Given the description of an element on the screen output the (x, y) to click on. 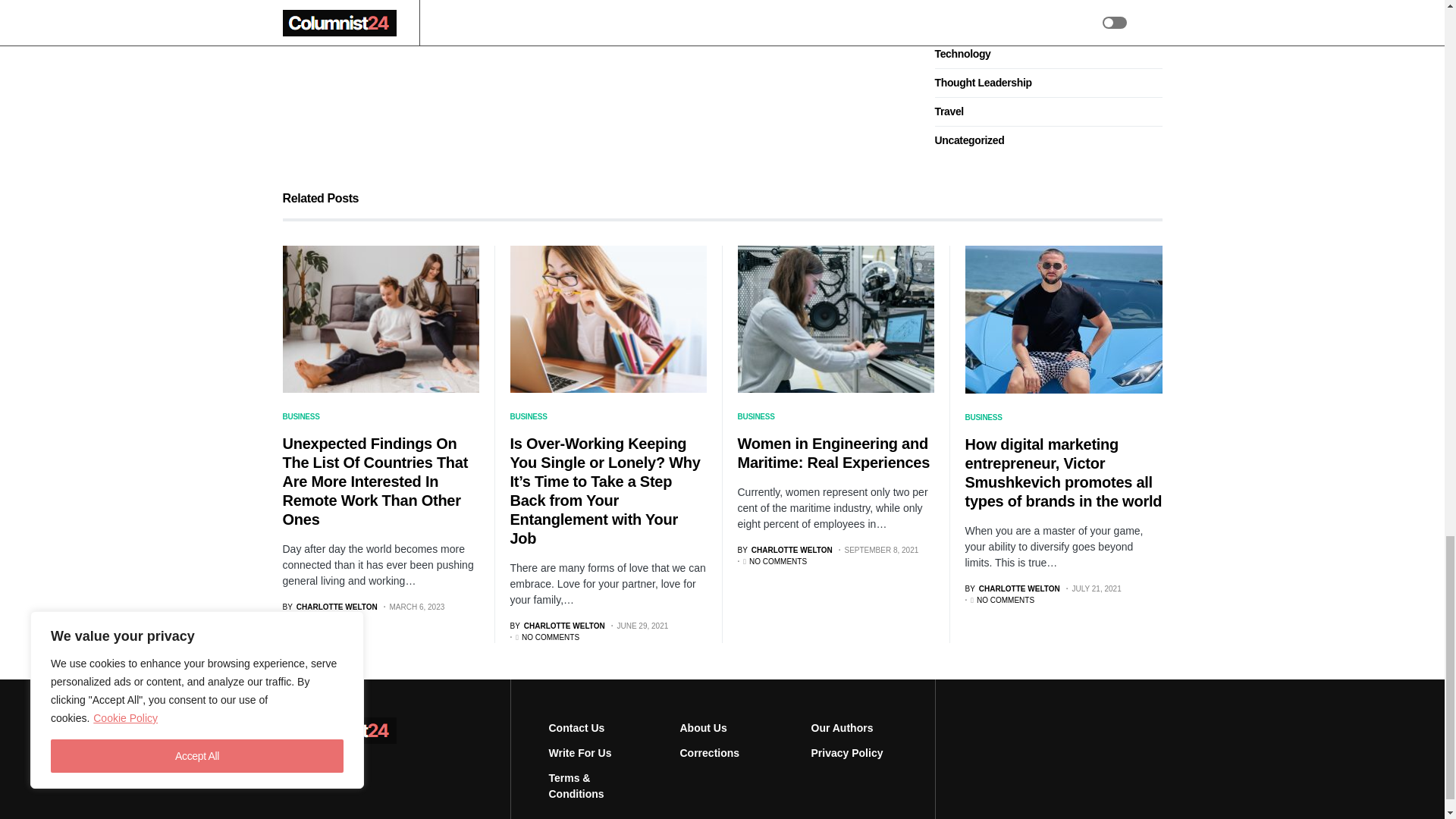
View all posts by Charlotte Welton (783, 550)
View all posts by Charlotte Welton (1011, 588)
View all posts by Charlotte Welton (329, 606)
View all posts by Charlotte Welton (556, 625)
